Given the description of an element on the screen output the (x, y) to click on. 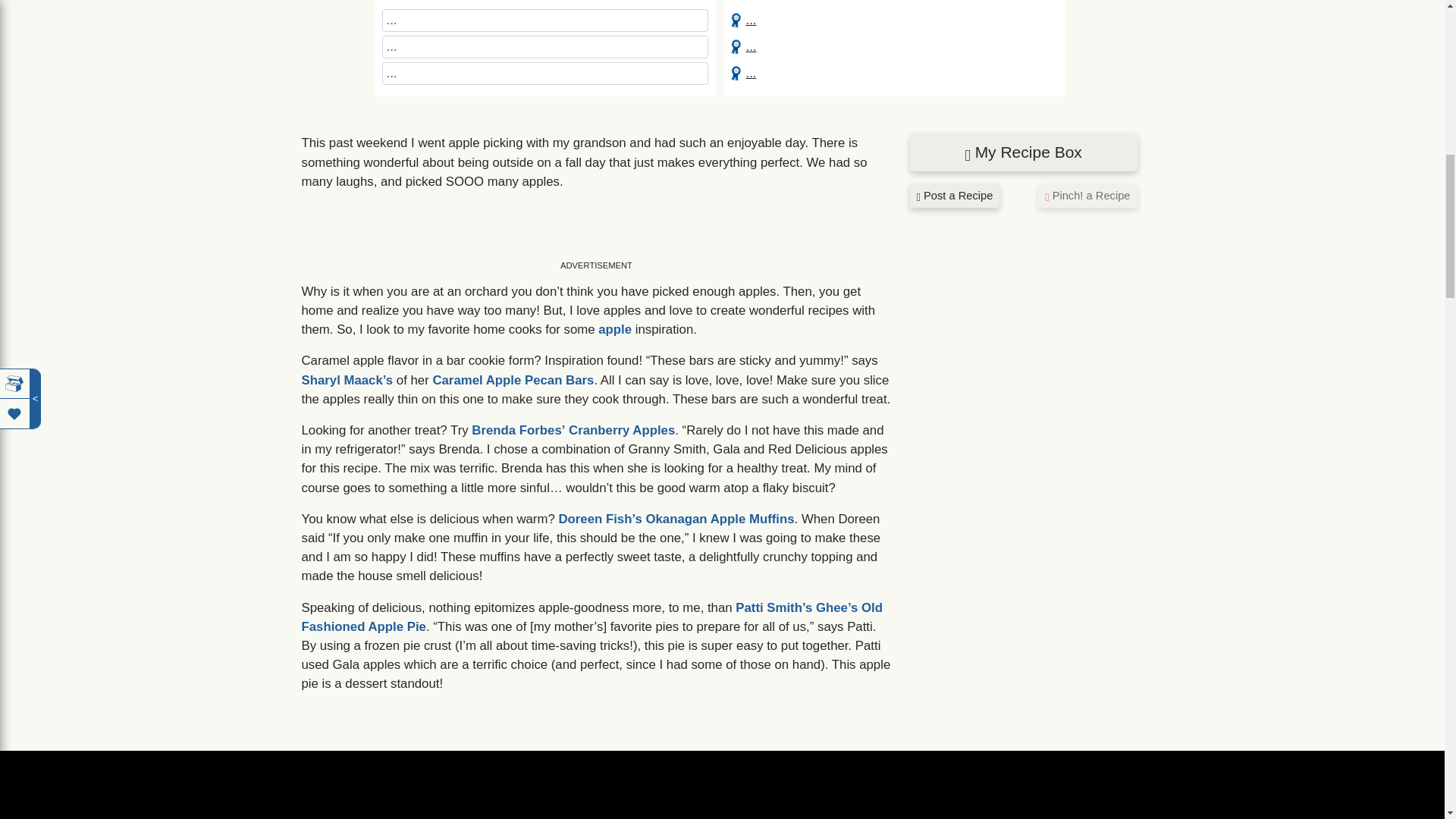
Caramel Apple Pecan Bars (513, 380)
... (392, 4)
apple (614, 329)
Cranberry Apples (622, 430)
Okanagan Apple Muffins (719, 518)
... (743, 4)
